Given the description of an element on the screen output the (x, y) to click on. 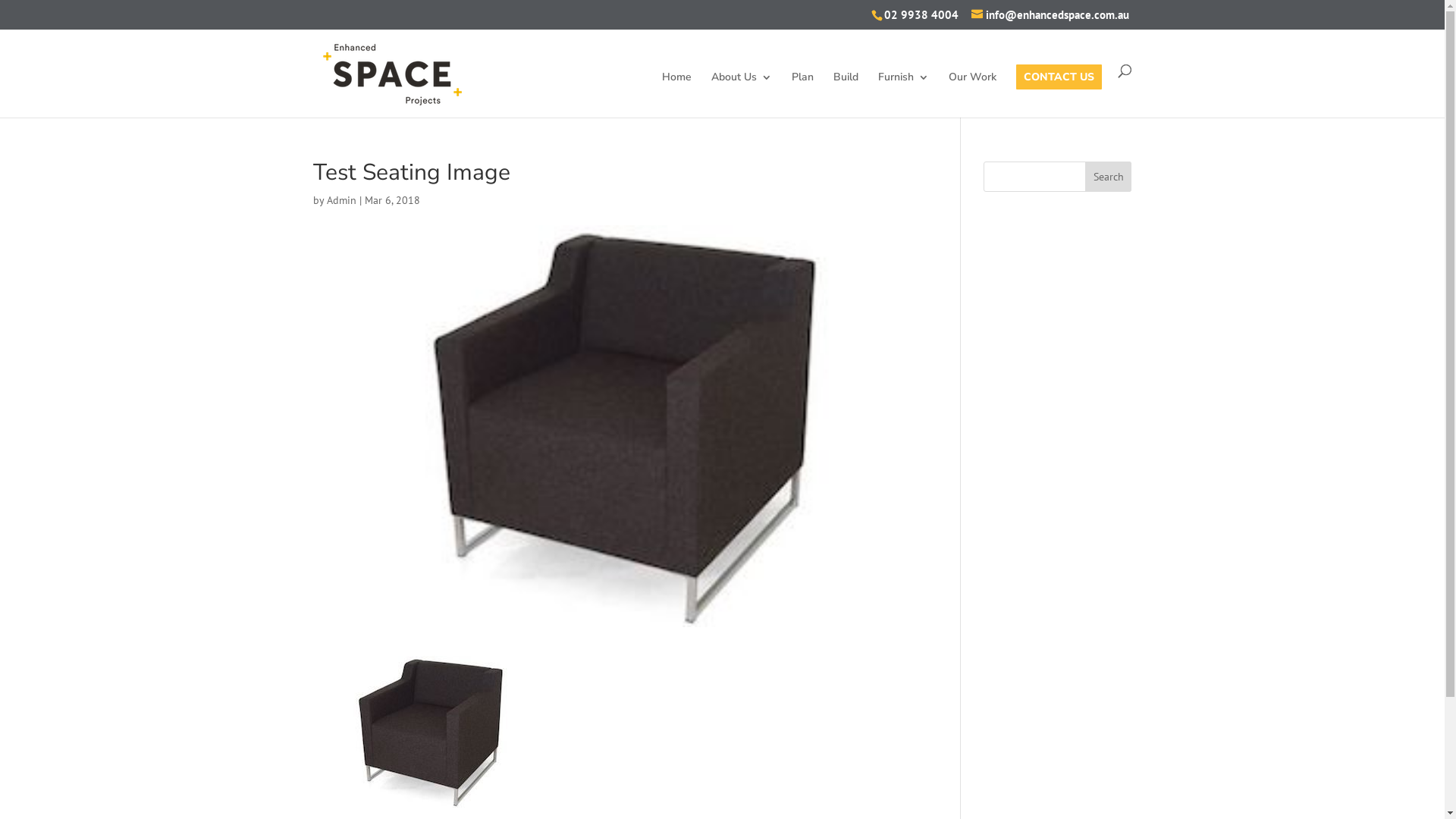
Home Element type: text (675, 93)
Admin Element type: text (340, 199)
Furnish Element type: text (903, 93)
Plan Element type: text (802, 93)
info@enhancedspace.com.au Element type: text (1049, 14)
CONTACT US Element type: text (1058, 93)
Build Element type: text (844, 93)
02 9938 4004 Element type: text (921, 14)
Search Element type: text (1108, 175)
Our Work Element type: text (971, 93)
About Us Element type: text (741, 93)
